Given the description of an element on the screen output the (x, y) to click on. 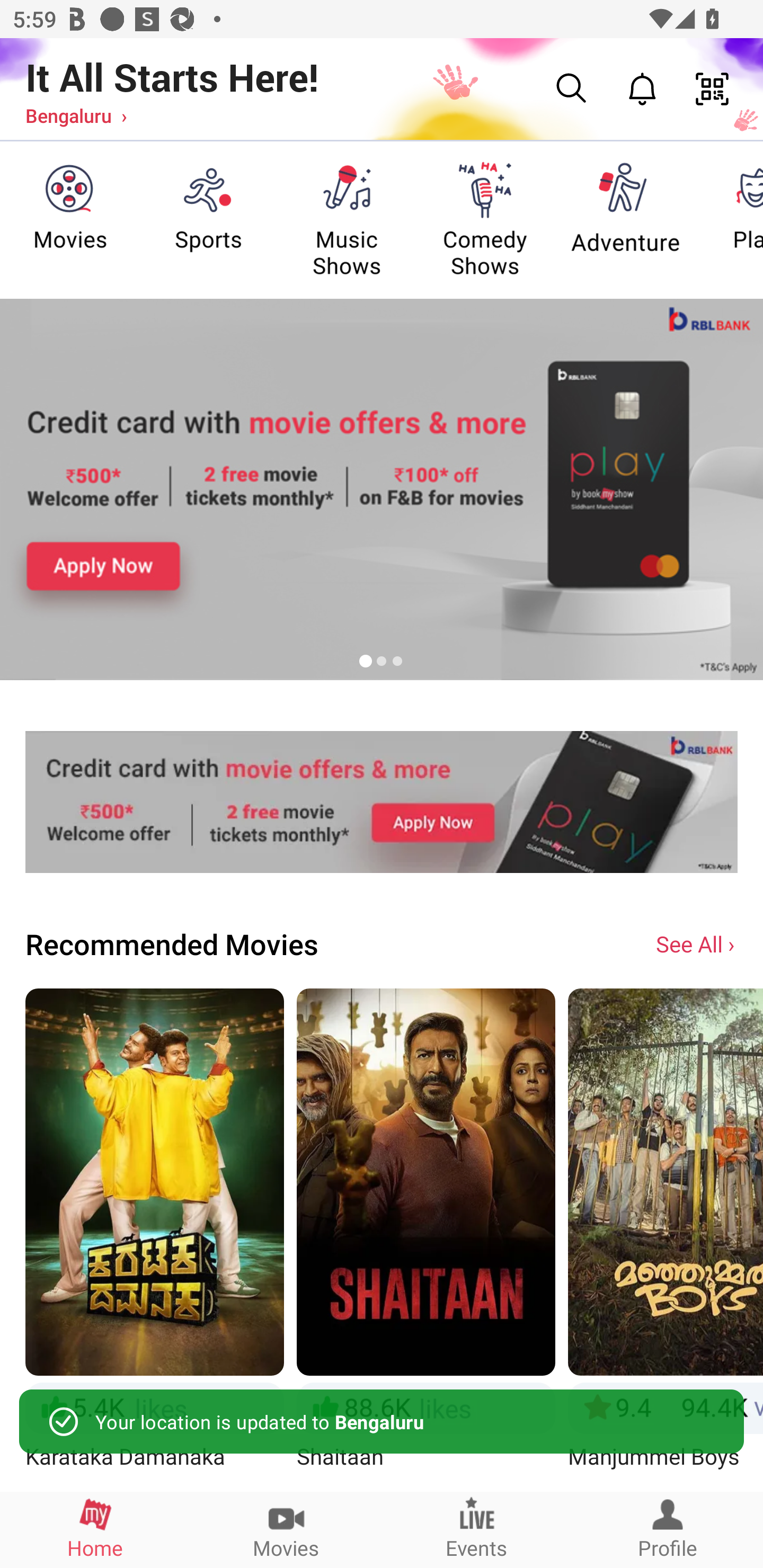
Bengaluru  › (76, 114)
See All › (696, 943)
Karataka Damanaka (154, 1239)
Shaitaan (425, 1239)
Manjummel Boys (665, 1239)
Home (95, 1529)
Movies (285, 1529)
Events (476, 1529)
Profile (667, 1529)
